Given the description of an element on the screen output the (x, y) to click on. 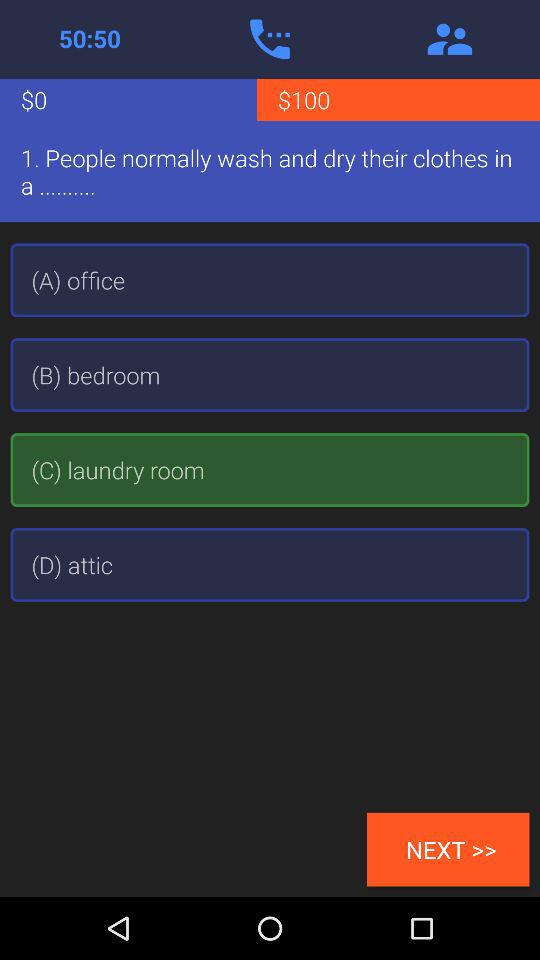
check the length of time (90, 39)
